Given the description of an element on the screen output the (x, y) to click on. 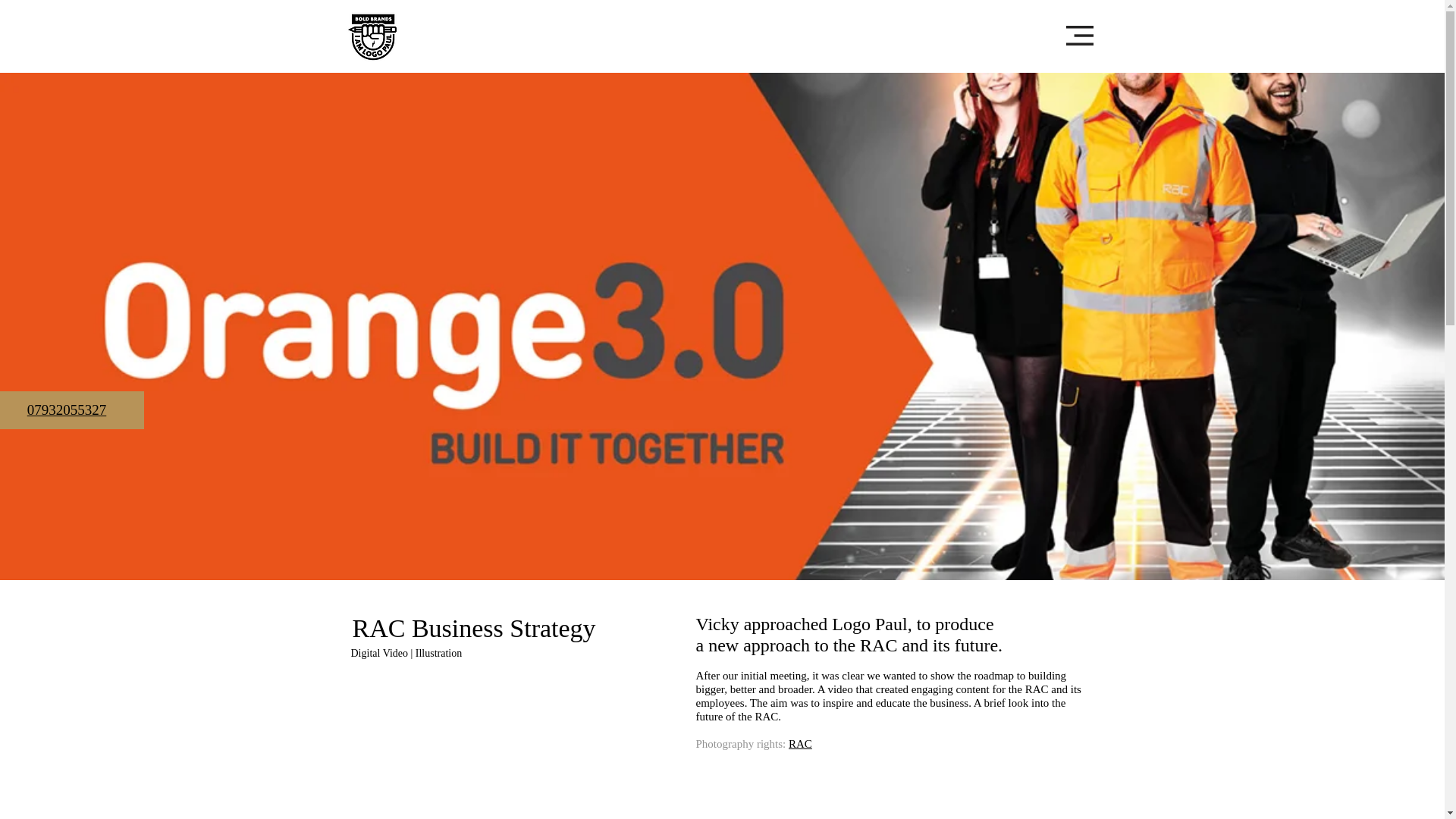
RAC (800, 743)
07932055327 (66, 409)
